Given the description of an element on the screen output the (x, y) to click on. 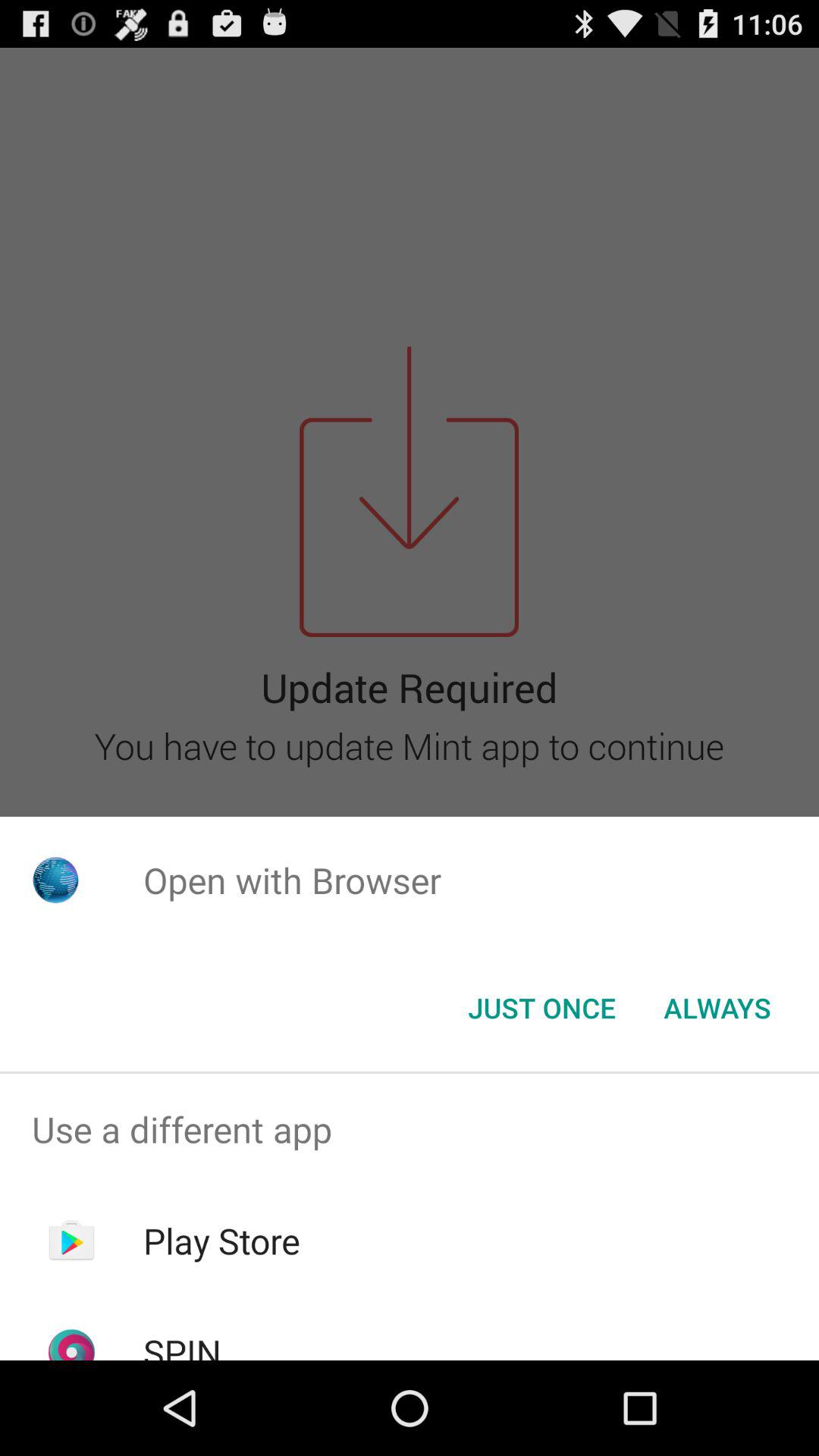
press the item next to always button (541, 1007)
